Given the description of an element on the screen output the (x, y) to click on. 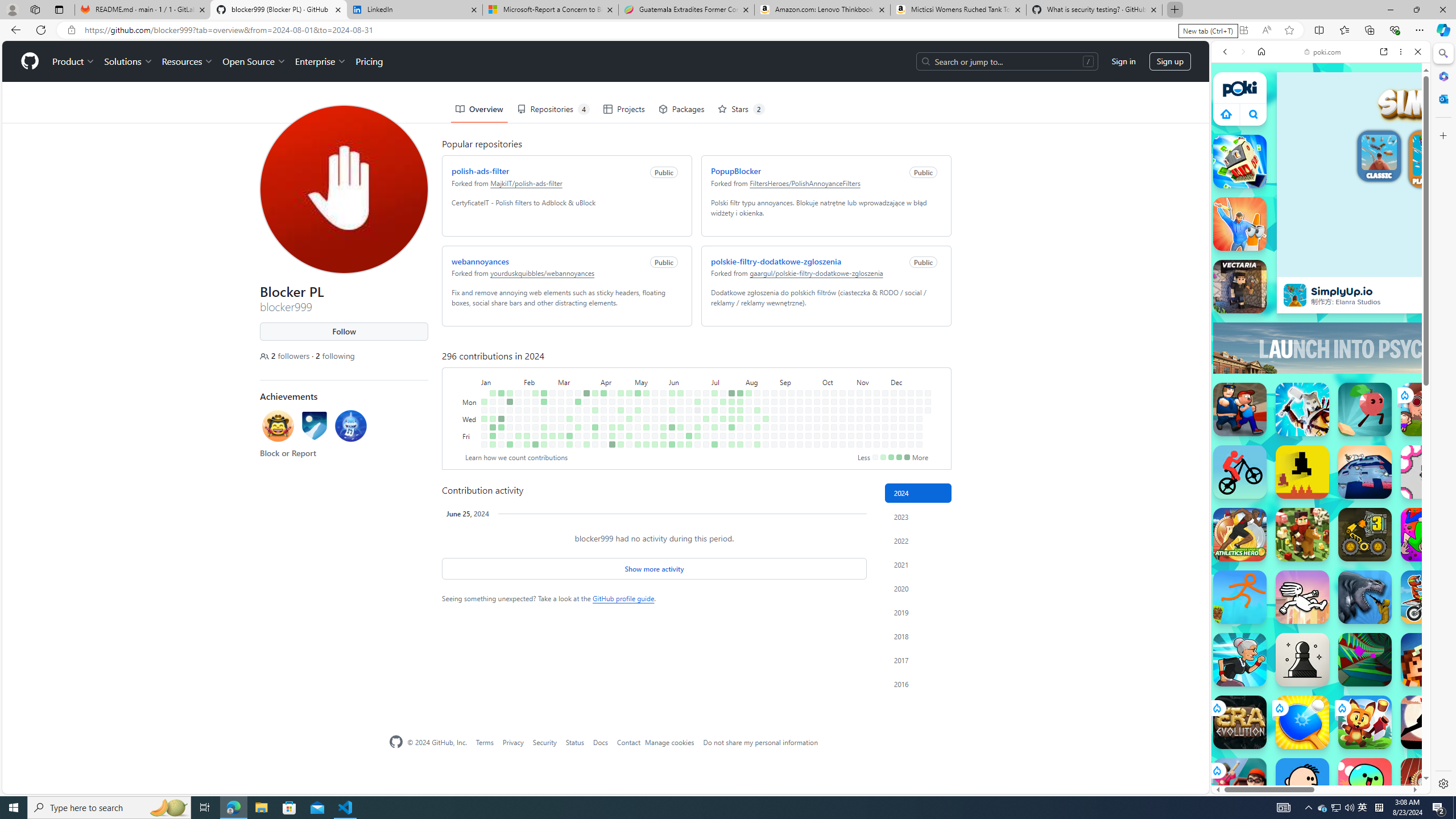
PopupBlocker (735, 170)
September (799, 380)
No contributions on September 21st. (799, 444)
2 contributions on June 22nd. (688, 444)
10 contributions on July 21st. (731, 392)
Contribution activity in 2018 (917, 636)
No contributions on August 30th. (774, 435)
No contributions on August 12th. (757, 401)
No contributions on February 16th. (535, 435)
Contribution activity in 2017 (917, 659)
No contributions on September 6th. (783, 435)
2 contributions on January 3rd. (483, 418)
April (615, 380)
WEB   (1230, 130)
